Given the description of an element on the screen output the (x, y) to click on. 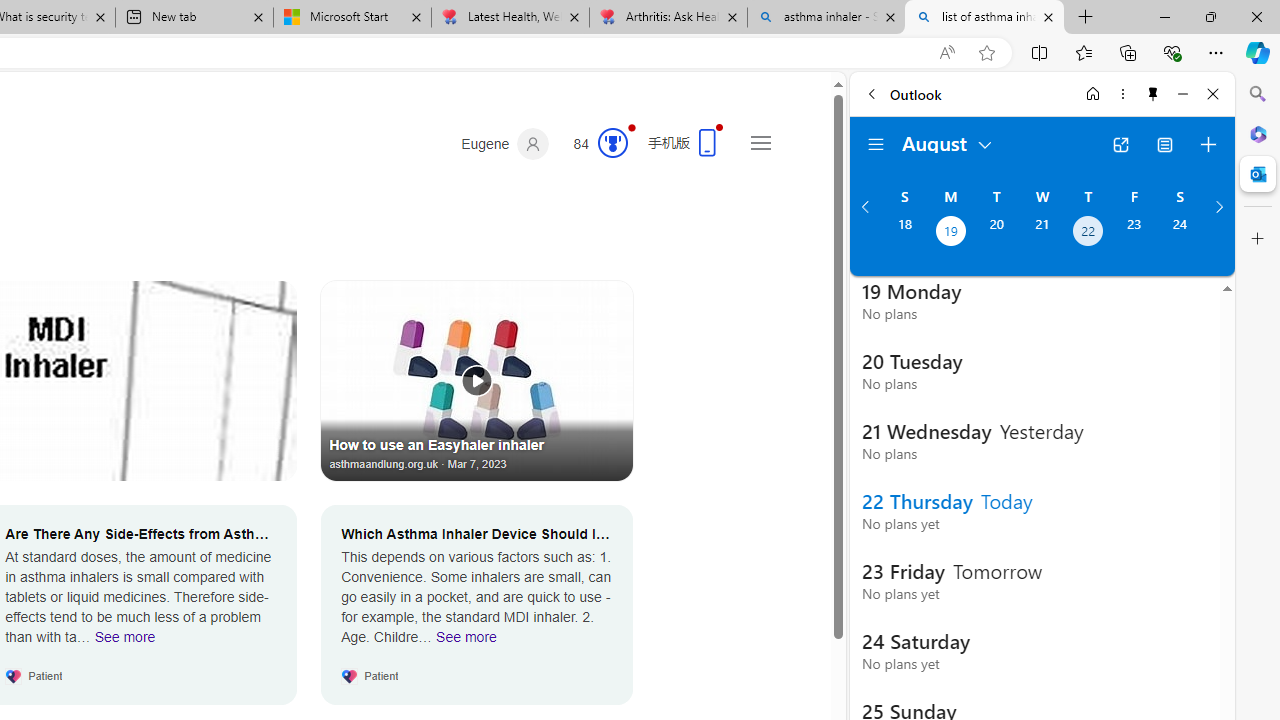
August (948, 141)
Sunday, August 18, 2024.  (904, 233)
Wednesday, August 21, 2024.  (1042, 233)
Saturday, August 24, 2024.  (1180, 233)
View Switcher. Current view is Agenda view (1165, 144)
asthma inhaler - Search (825, 17)
